Given the description of an element on the screen output the (x, y) to click on. 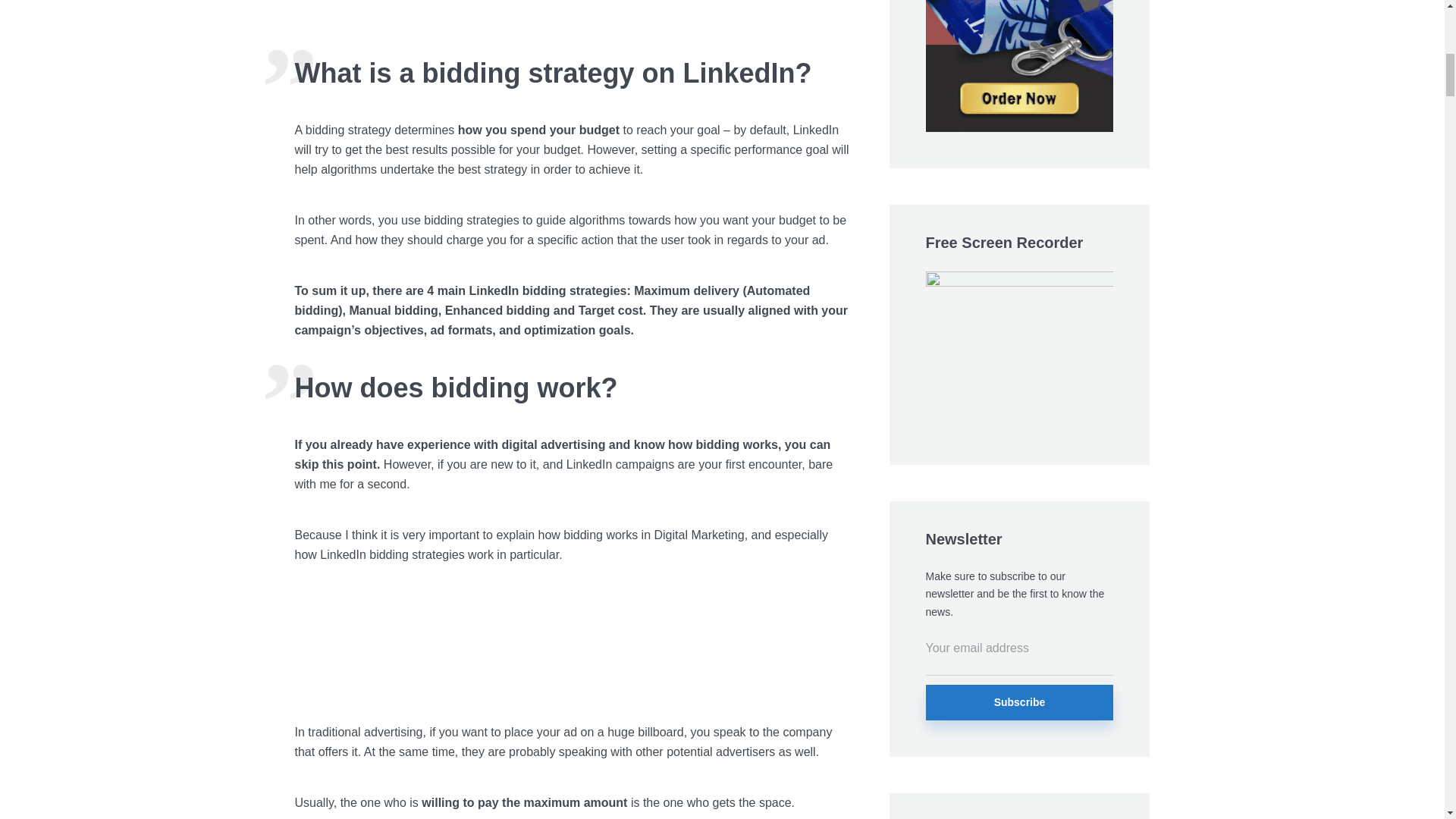
Subscribe (1018, 702)
